Given the description of an element on the screen output the (x, y) to click on. 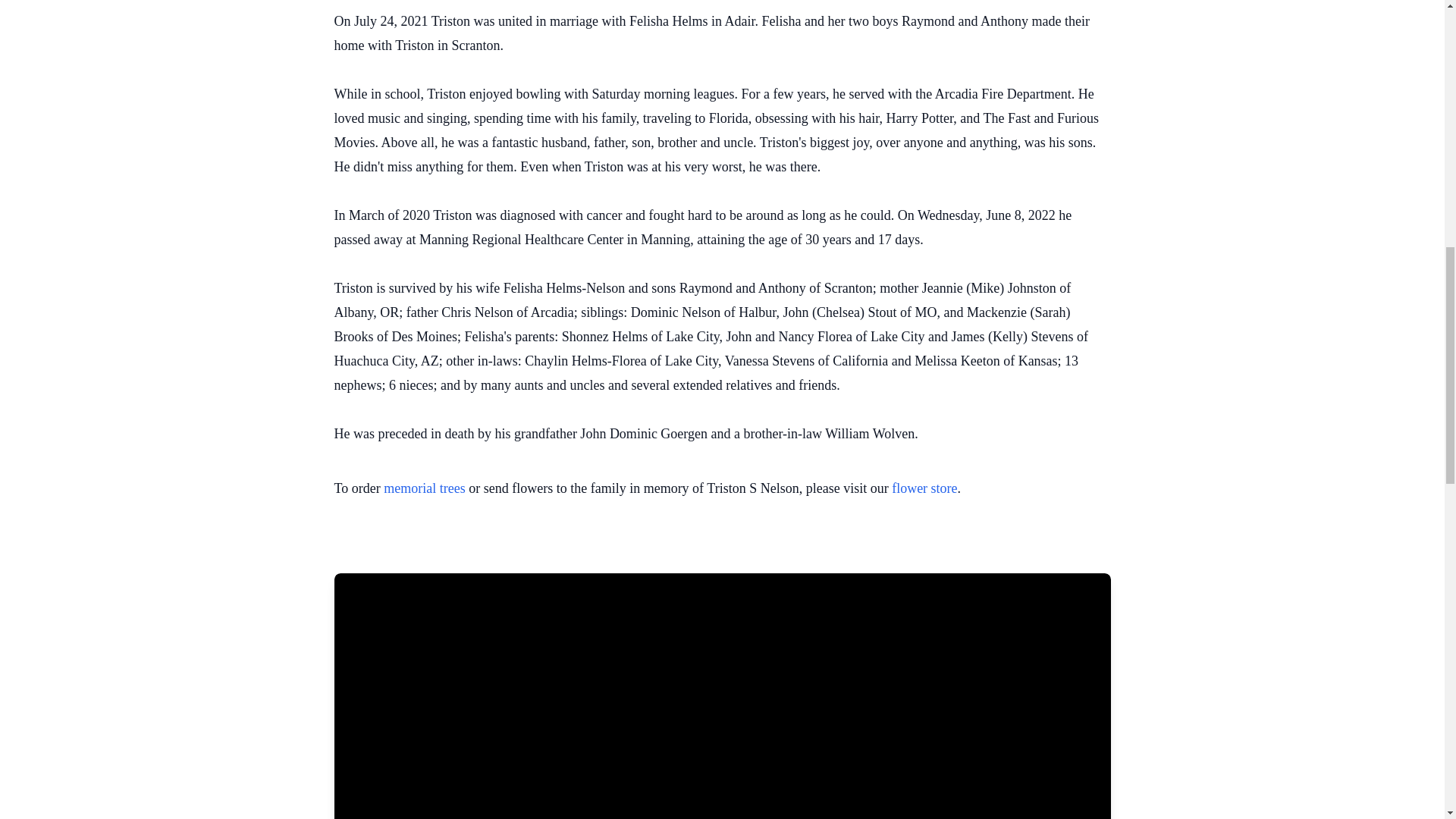
flower store (923, 488)
memorial trees (424, 488)
